Given the description of an element on the screen output the (x, y) to click on. 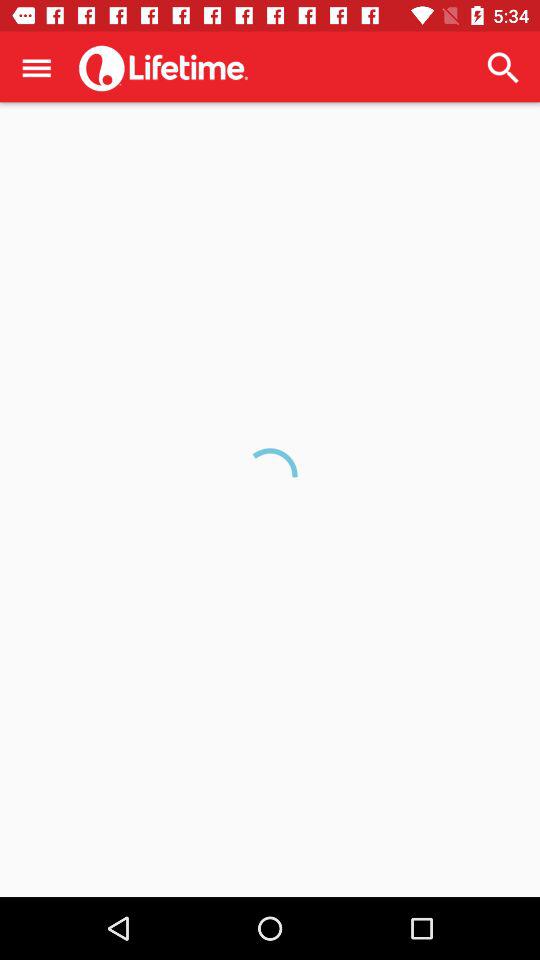
select the item at the top right corner (503, 67)
